Given the description of an element on the screen output the (x, y) to click on. 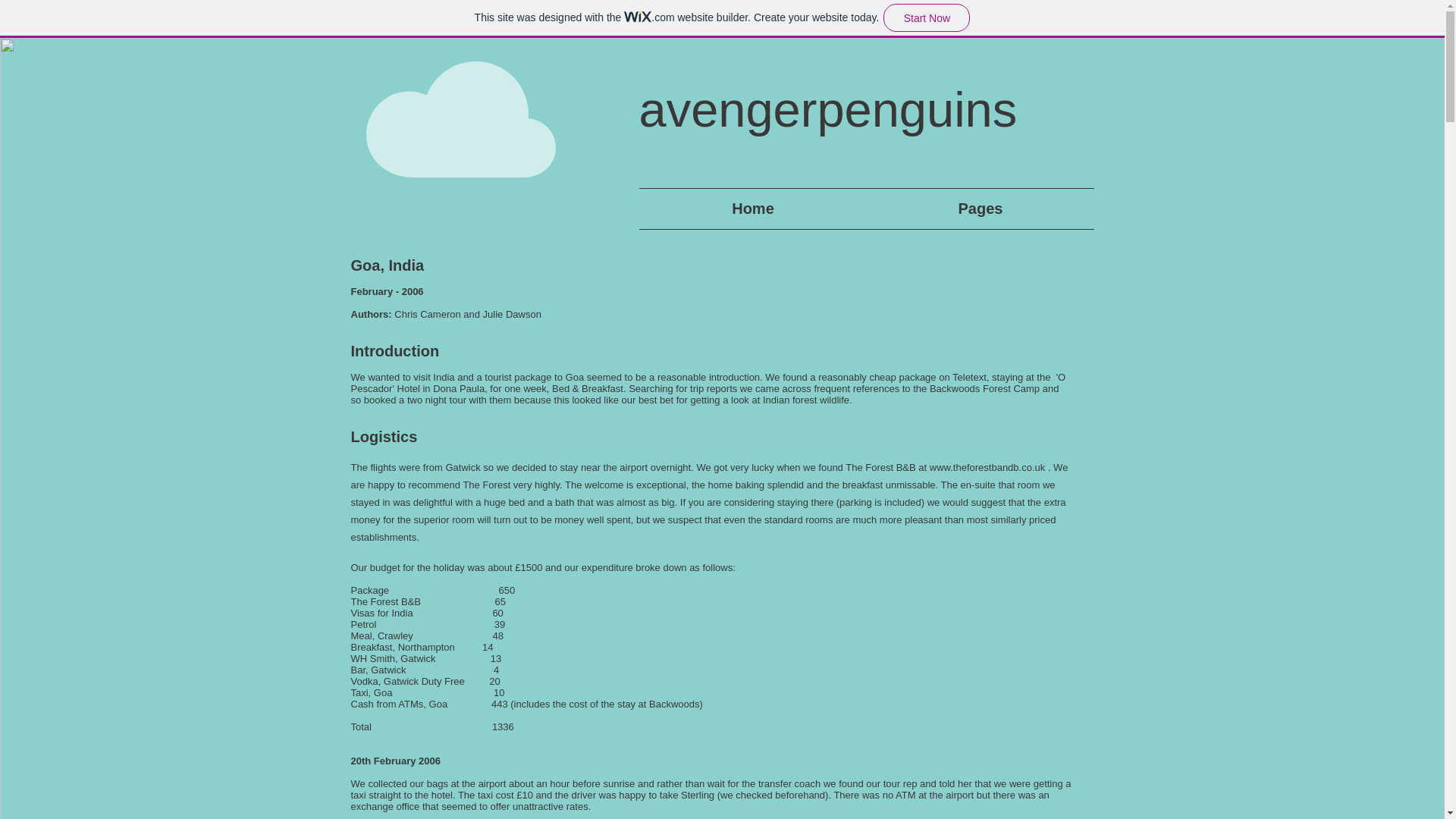
www.theforestbandb.co.uk (987, 467)
Pages (980, 209)
Home (752, 209)
